Given the description of an element on the screen output the (x, y) to click on. 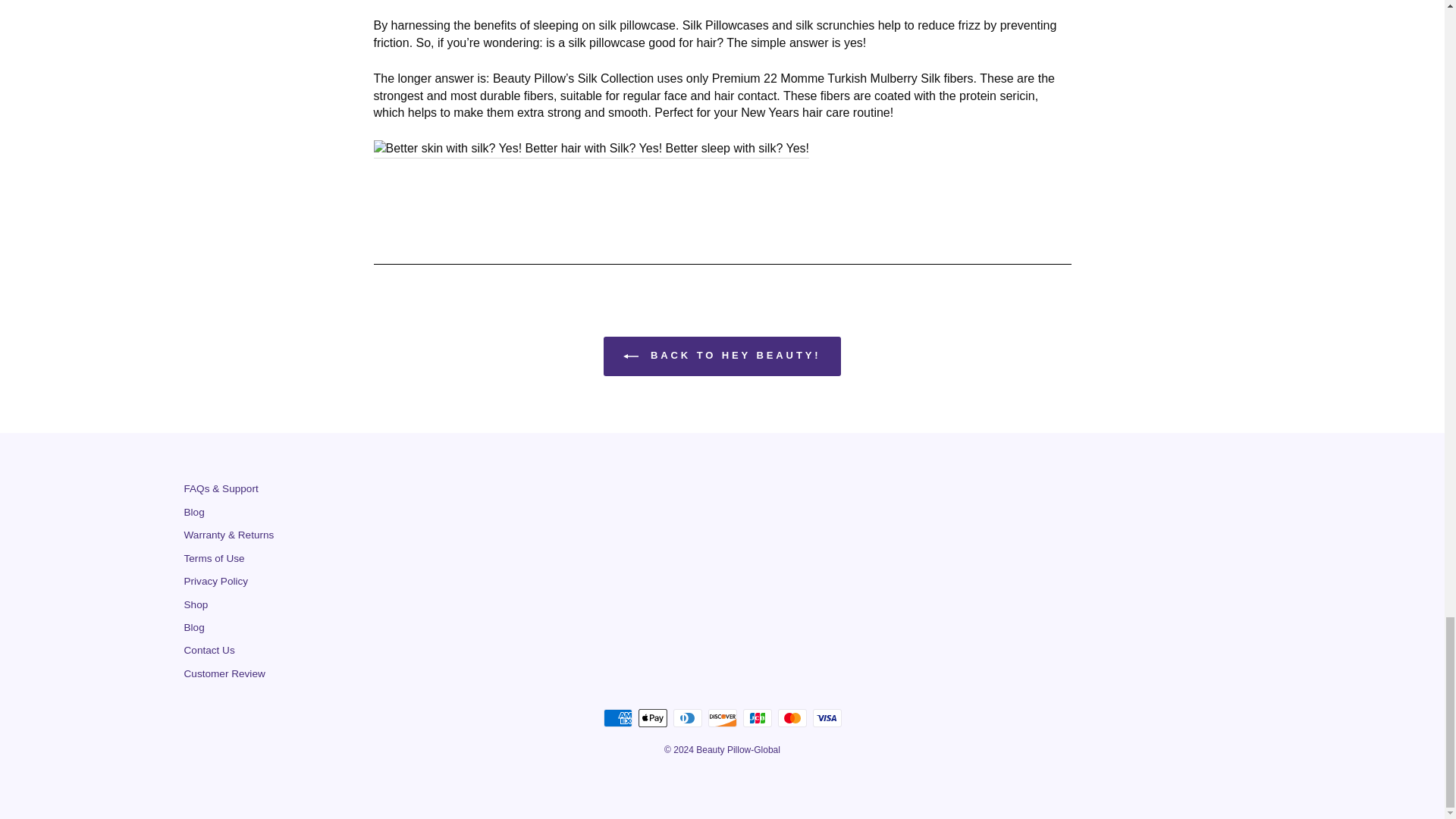
Discover (721, 718)
American Express (617, 718)
Mastercard (791, 718)
Visa (826, 718)
Diners Club (686, 718)
JCB (756, 718)
Apple Pay (652, 718)
